Given the description of an element on the screen output the (x, y) to click on. 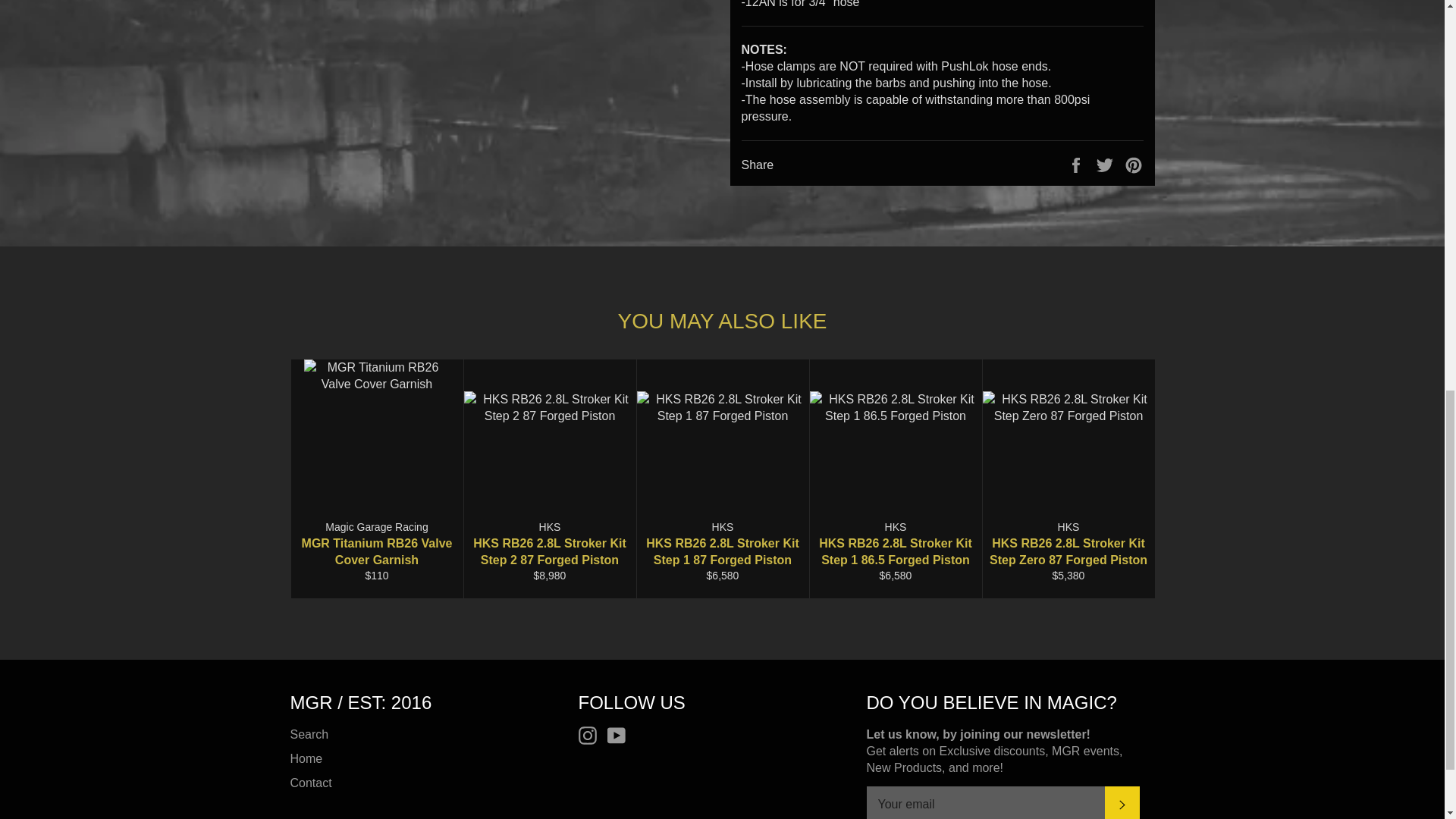
Pin on Pinterest (1133, 164)
Magic Garage Racing on Instagram (591, 735)
Share on Facebook (1077, 164)
Magic Garage Racing on YouTube (620, 735)
Tweet on Twitter (1106, 164)
